Given the description of an element on the screen output the (x, y) to click on. 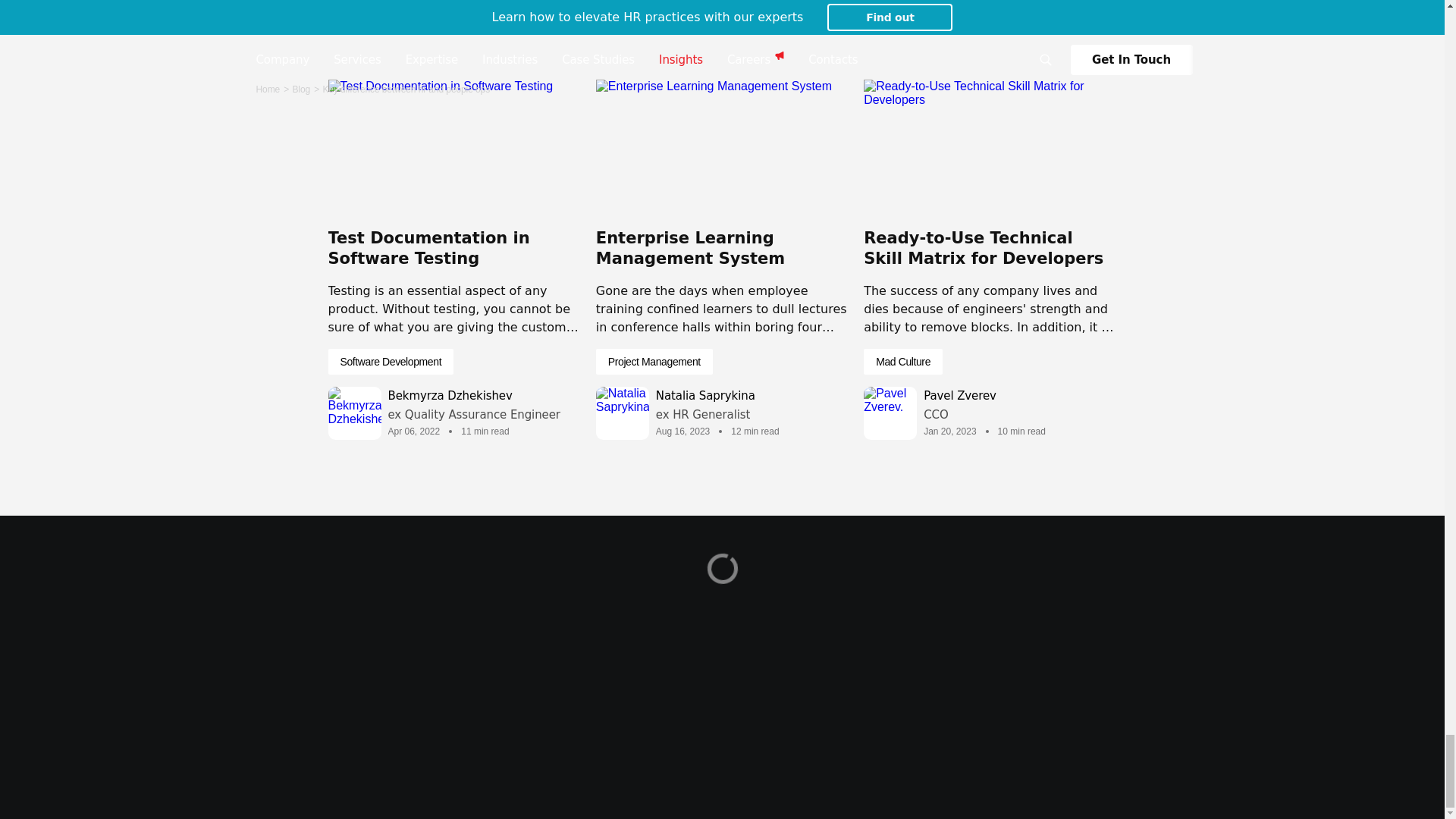
CCO (984, 415)
ex Quality Assurance Engineer (474, 415)
ex HR Generalist (717, 415)
Pavel Zverev (984, 405)
Bekmyrza Dzhekishev (474, 405)
Natalia Saprykina (717, 405)
